Given the description of an element on the screen output the (x, y) to click on. 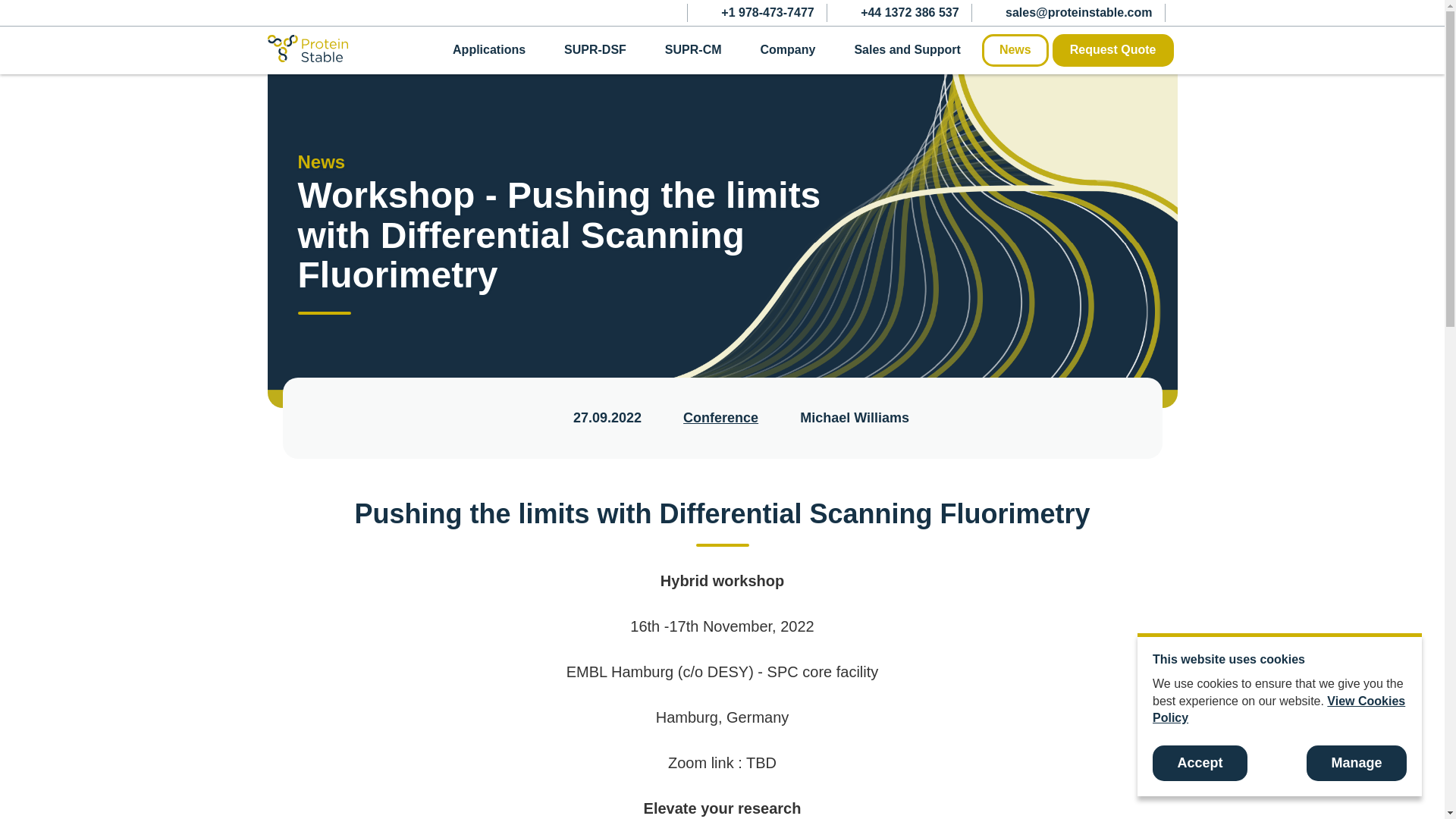
SUPR-CM (693, 50)
Conference (720, 417)
View Cookies Policy (1279, 708)
News (321, 161)
News (1014, 50)
Sales and Support (905, 50)
SUPR-DSF (595, 50)
Applications (489, 50)
Company (787, 50)
Request Quote (1112, 50)
